Given the description of an element on the screen output the (x, y) to click on. 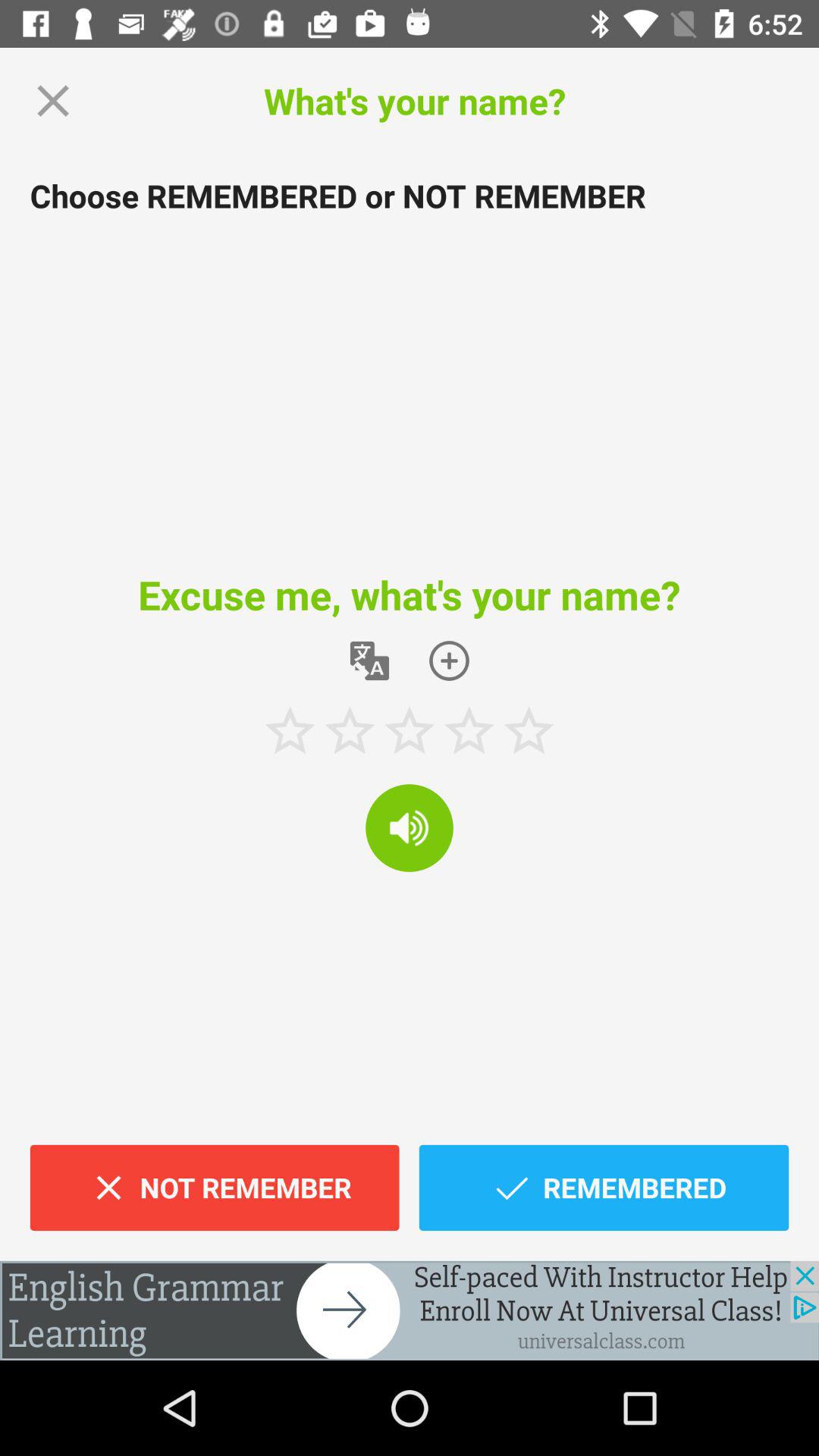
click the add (409, 1310)
